Given the description of an element on the screen output the (x, y) to click on. 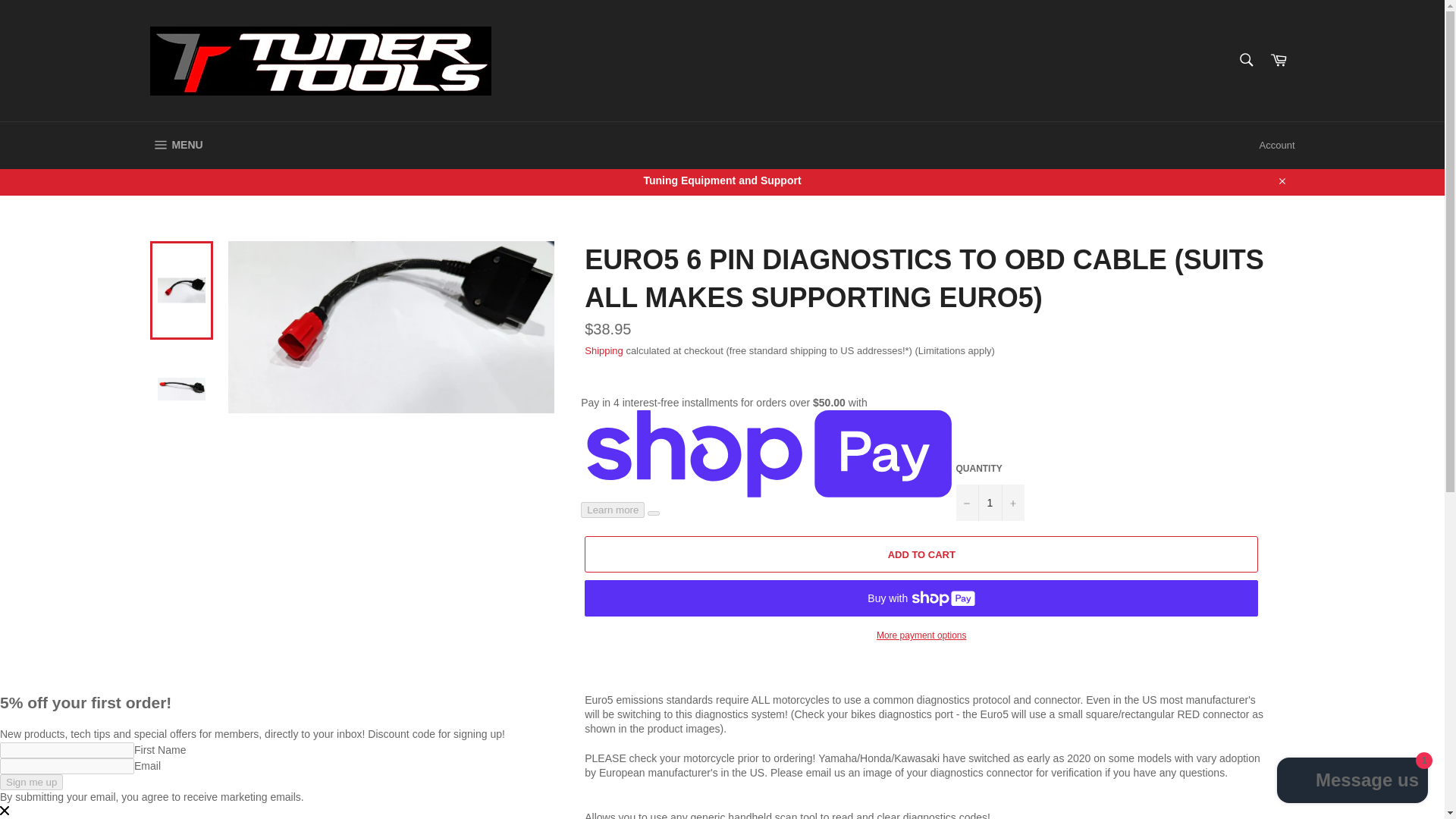
PayPal Message 1 (958, 60)
Shopify online store chat (1352, 781)
1 (990, 502)
